Given the description of an element on the screen output the (x, y) to click on. 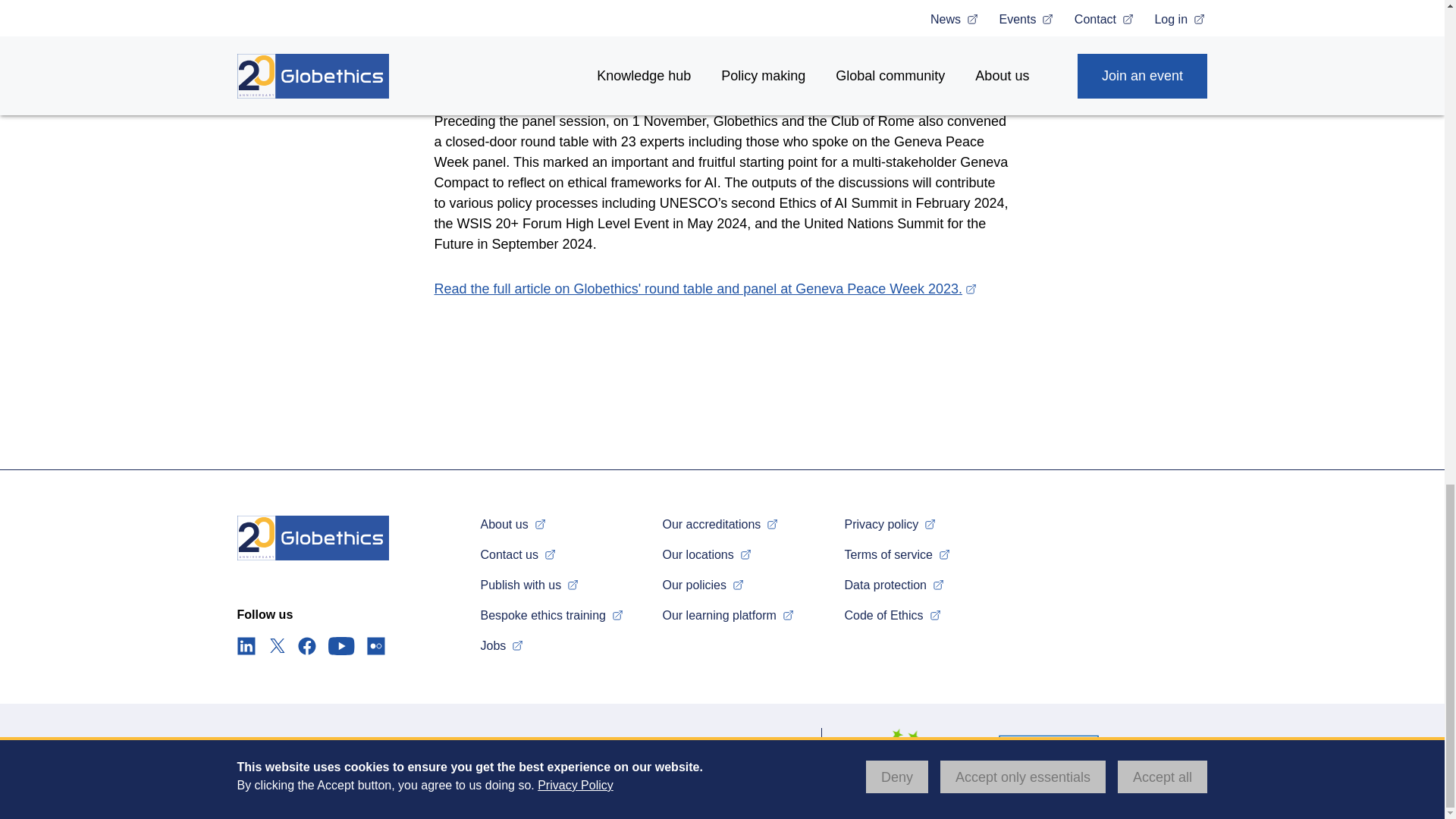
About us (514, 523)
Our locations (708, 554)
Data protection policy (895, 584)
Contact us (519, 554)
Contact us (519, 554)
Our policies (704, 584)
Terms of service agreement (898, 554)
Bespoke ethics training (553, 615)
Publish with us (530, 584)
Jobs (502, 645)
Our learning platform (729, 615)
Code of Ethics (893, 615)
Club of Rome (924, 35)
Privacy policy (891, 523)
Privacy policy (891, 523)
